Given the description of an element on the screen output the (x, y) to click on. 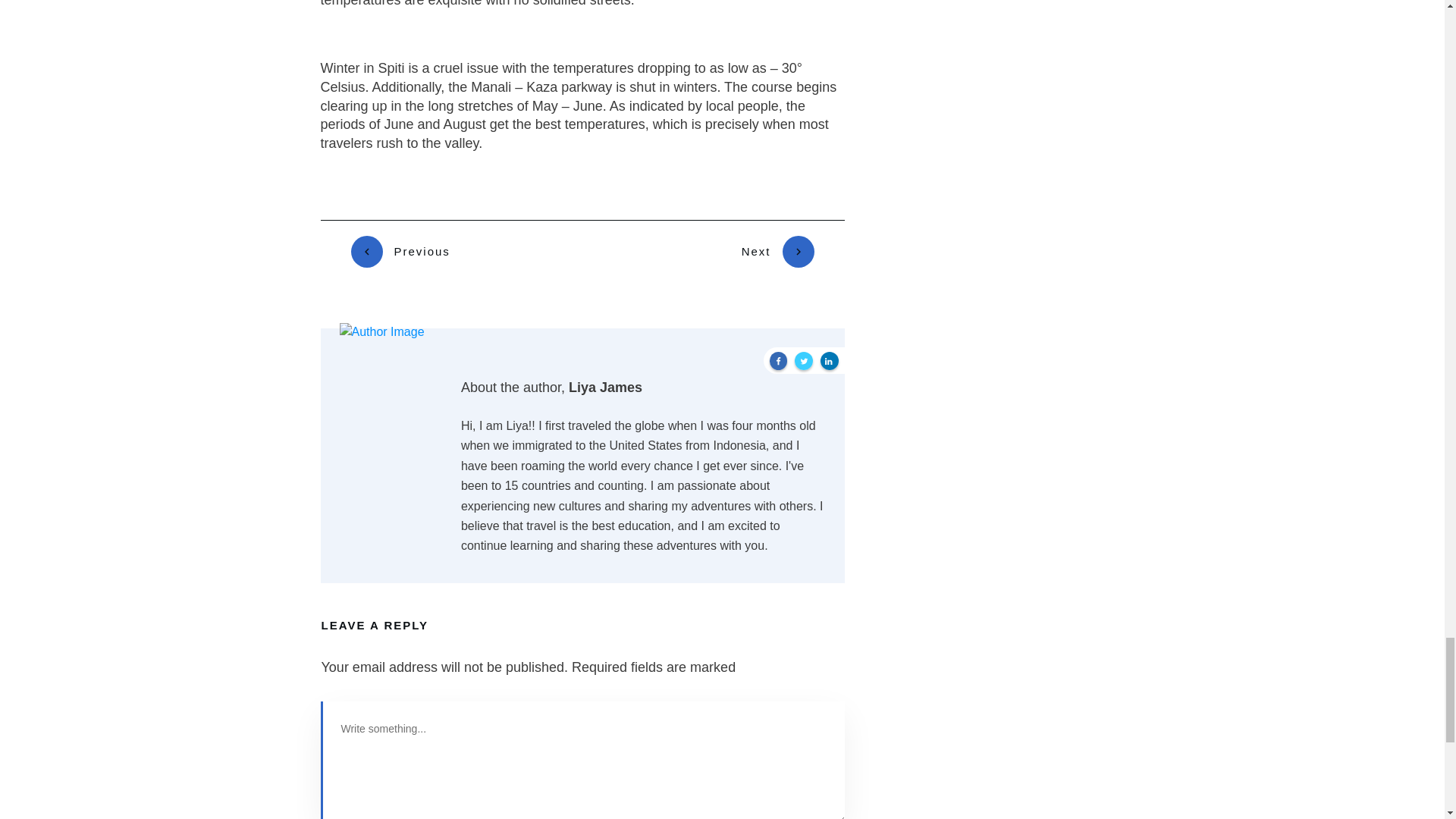
Next (777, 251)
Previous (399, 251)
